Given the description of an element on the screen output the (x, y) to click on. 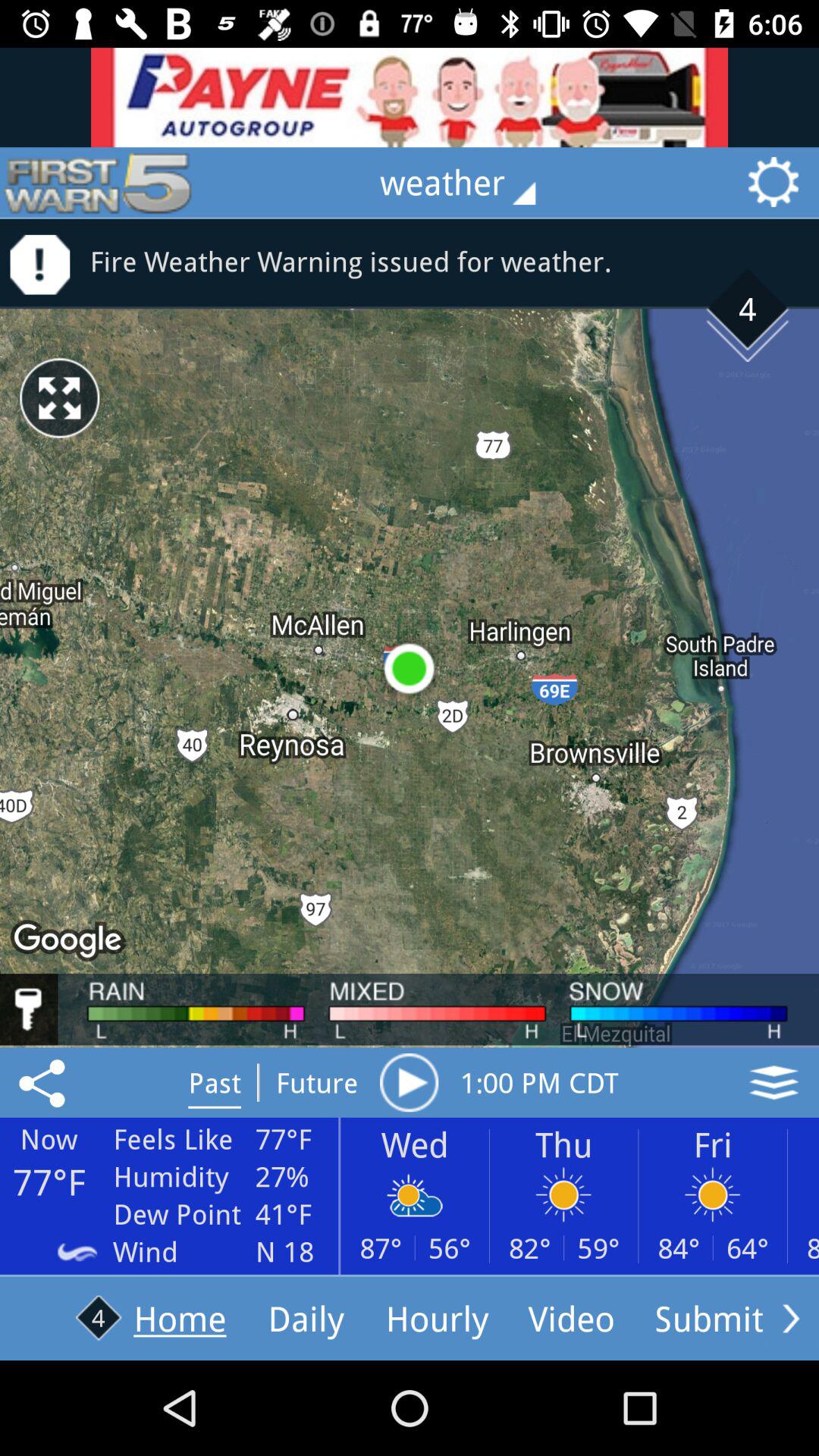
share forecast (44, 1082)
